Given the description of an element on the screen output the (x, y) to click on. 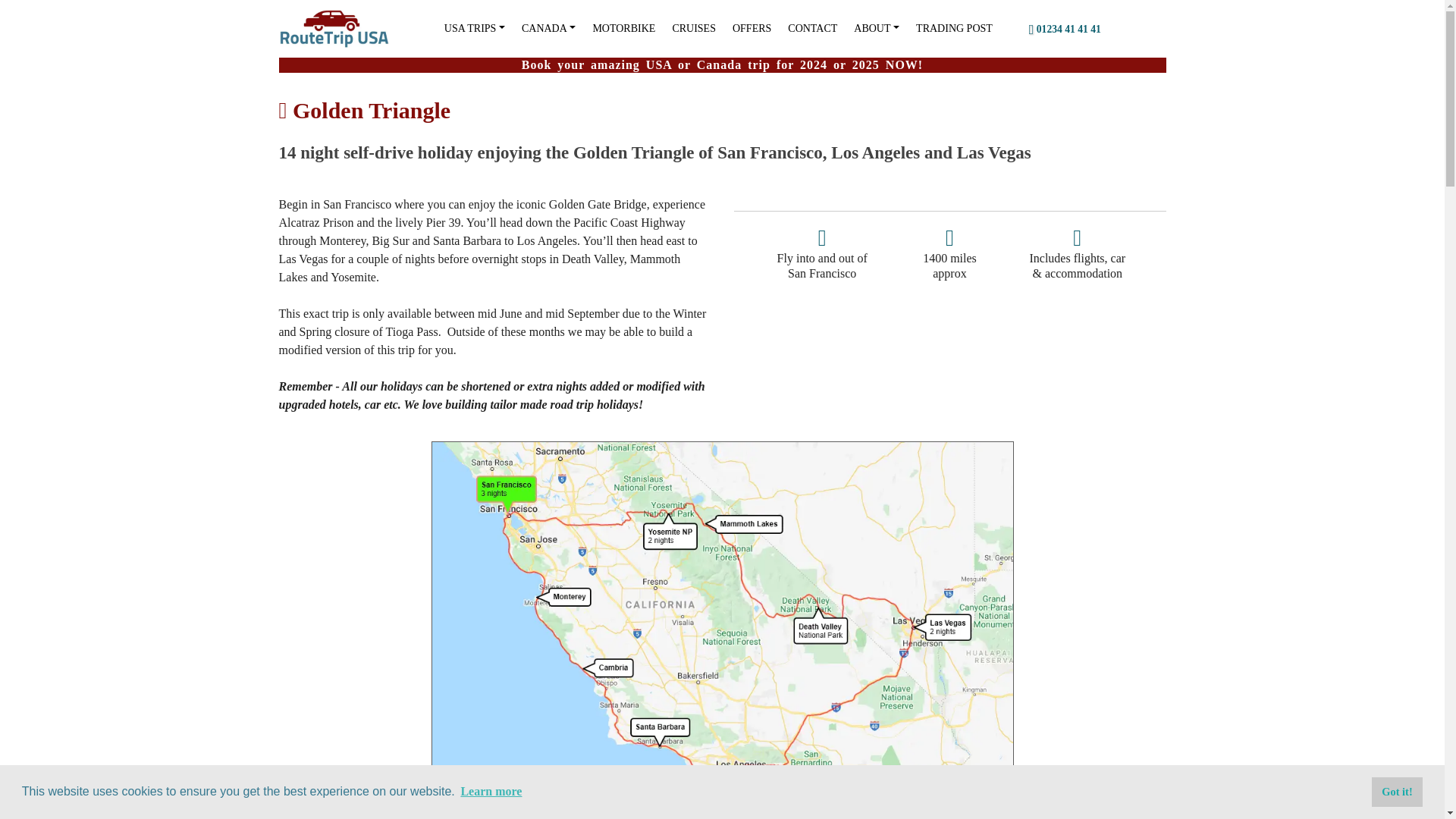
CANADA (547, 28)
OFFERS (751, 28)
CONTACT (812, 28)
CRUISES (693, 28)
Got it! (1396, 791)
01234 41 41 41 (1064, 28)
ABOUT (876, 28)
Learn more (491, 791)
MOTORBIKE (623, 28)
TRADING POST (954, 28)
USA TRIPS (474, 28)
